Given the description of an element on the screen output the (x, y) to click on. 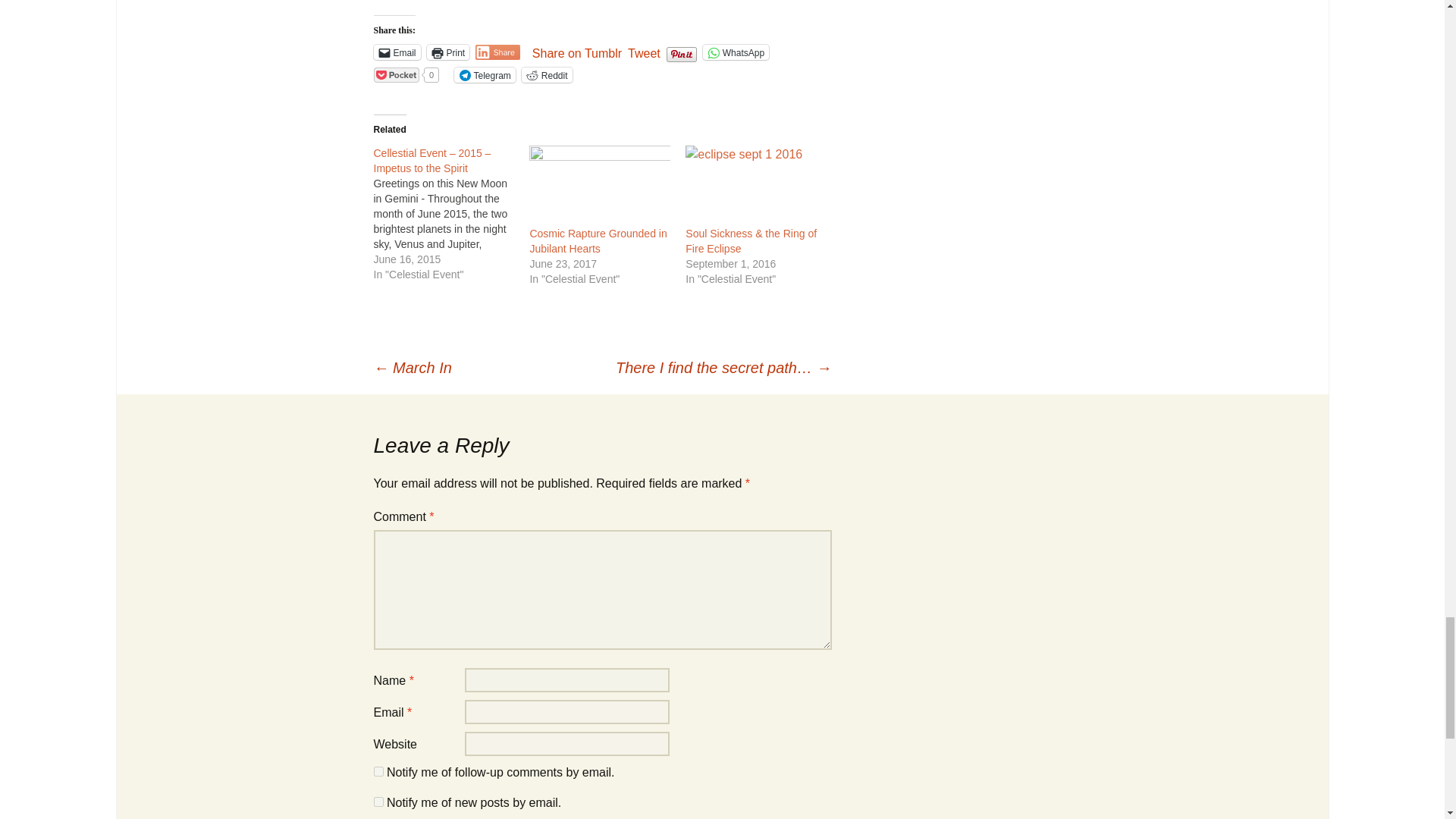
Share on Tumblr (576, 51)
subscribe (377, 801)
Click to share on Reddit (546, 74)
Click to email a link to a friend (396, 52)
Click to print (448, 52)
subscribe (377, 771)
Click to share on Telegram (483, 74)
Click to share on WhatsApp (735, 52)
